Given the description of an element on the screen output the (x, y) to click on. 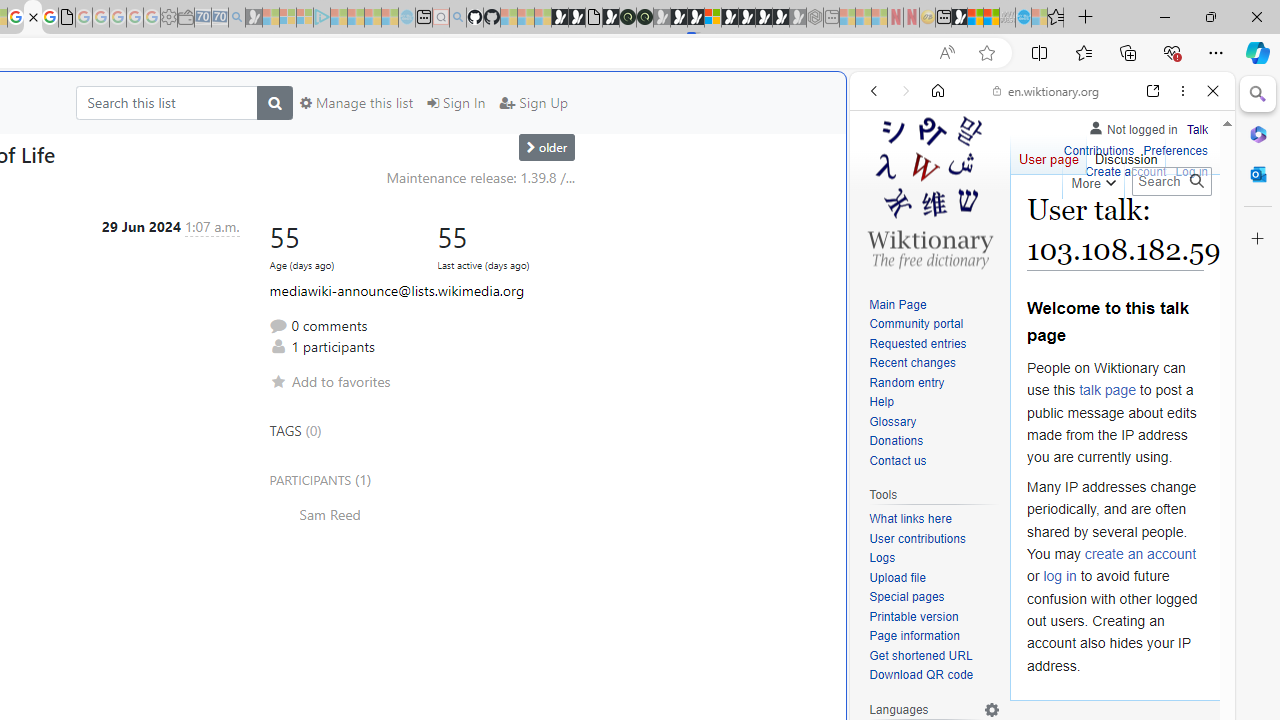
Settings - Sleeping (168, 17)
Random entry (906, 382)
Page information (914, 636)
Logs (882, 557)
Download QR code (934, 676)
Main Page (897, 303)
Not logged in (1132, 126)
Preferences (1189, 228)
Maintenance release: 1.39.8 /... (480, 177)
IMAGES (939, 228)
Glossary (892, 421)
Open link in new tab (1153, 91)
Play Cave FRVR in your browser | Games from Microsoft Start (343, 426)
